Given the description of an element on the screen output the (x, y) to click on. 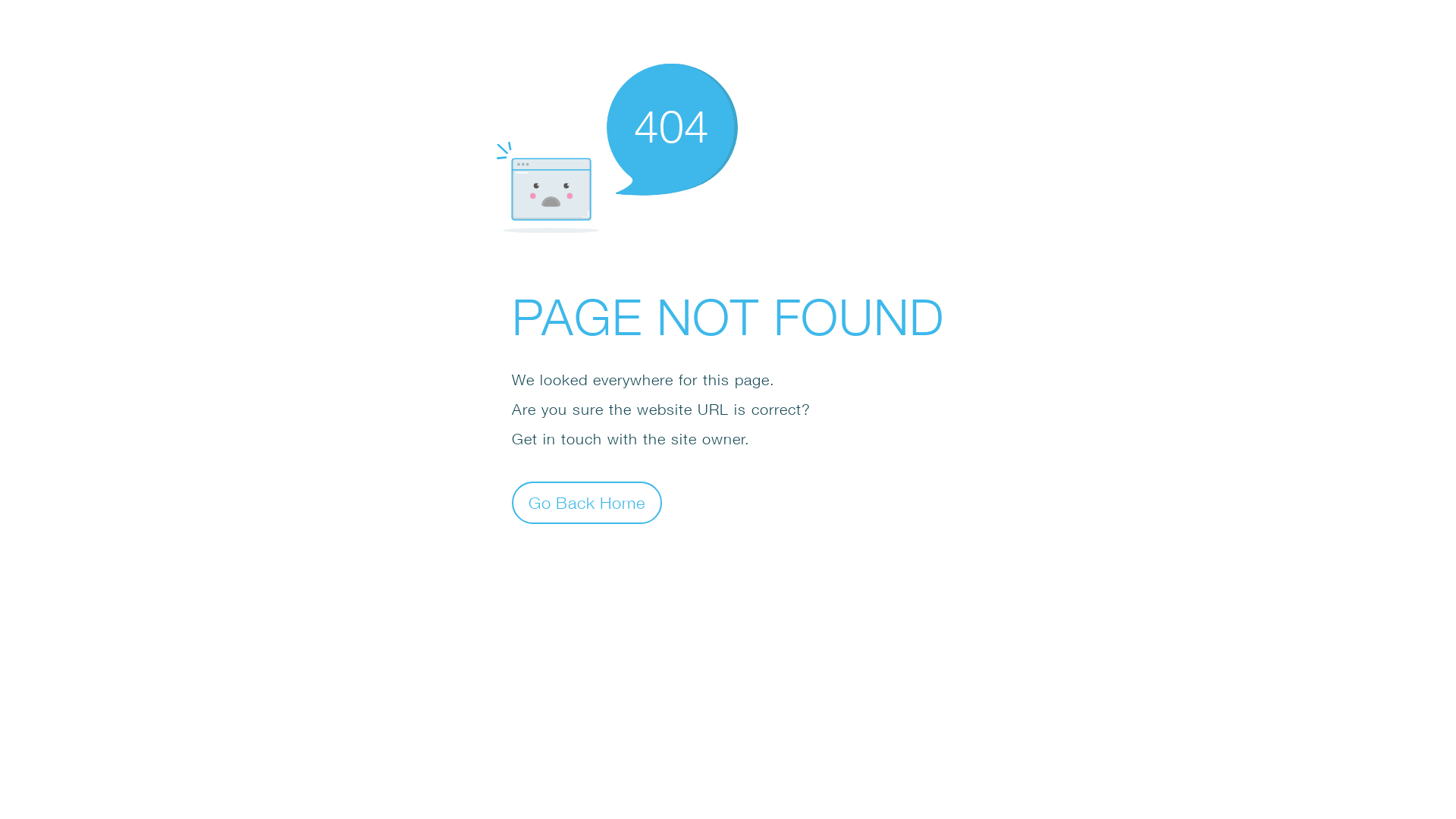
Go Back Home Element type: text (586, 502)
